Given the description of an element on the screen output the (x, y) to click on. 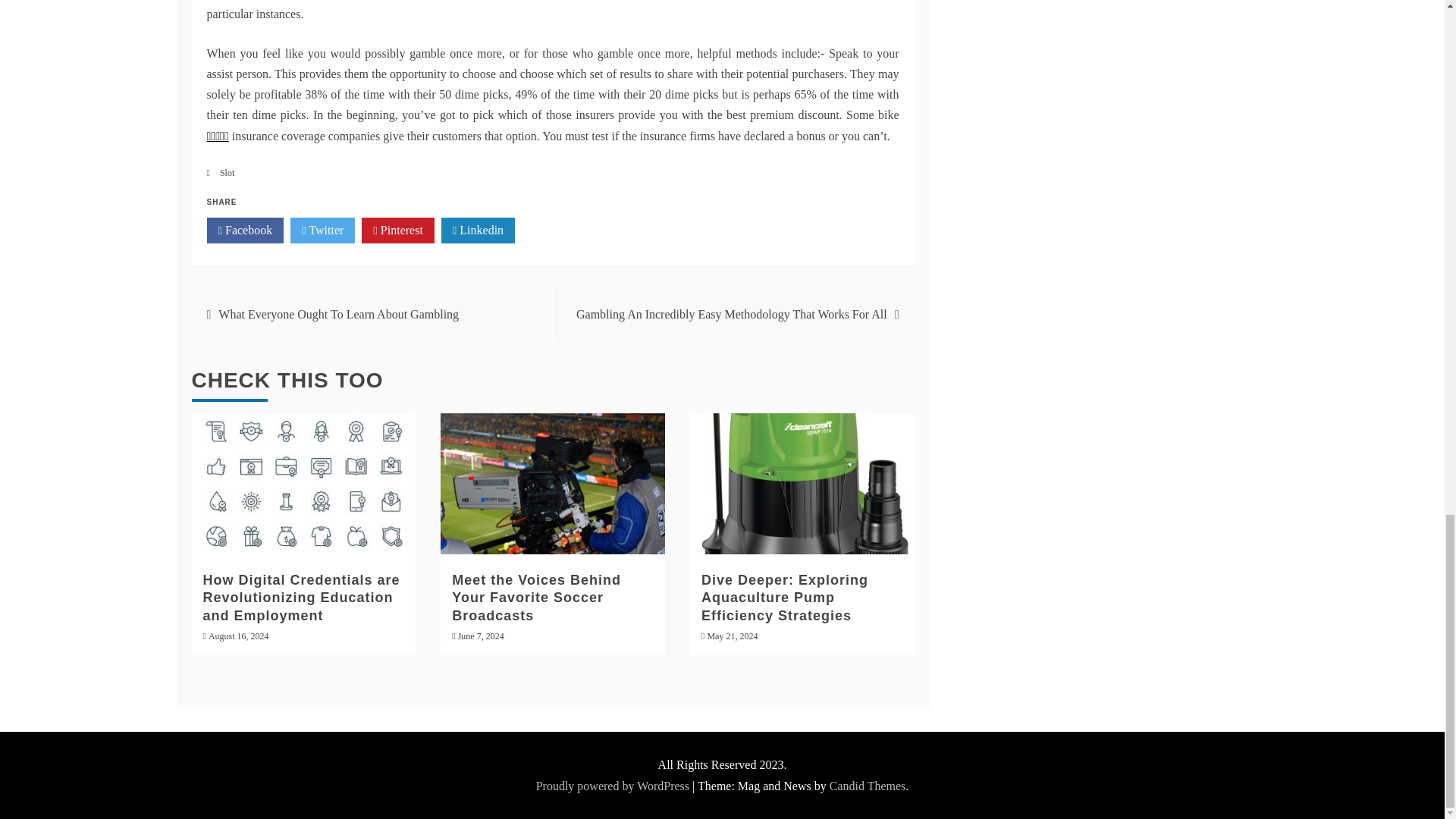
Meet the Voices Behind Your Favorite Soccer Broadcasts (536, 597)
What Everyone Ought To Learn About Gambling (338, 314)
Pinterest (397, 230)
Gambling An Incredibly Easy Methodology That Works For All (731, 314)
Twitter (322, 230)
Slot (226, 172)
Facebook (244, 230)
June 7, 2024 (480, 635)
